Given the description of an element on the screen output the (x, y) to click on. 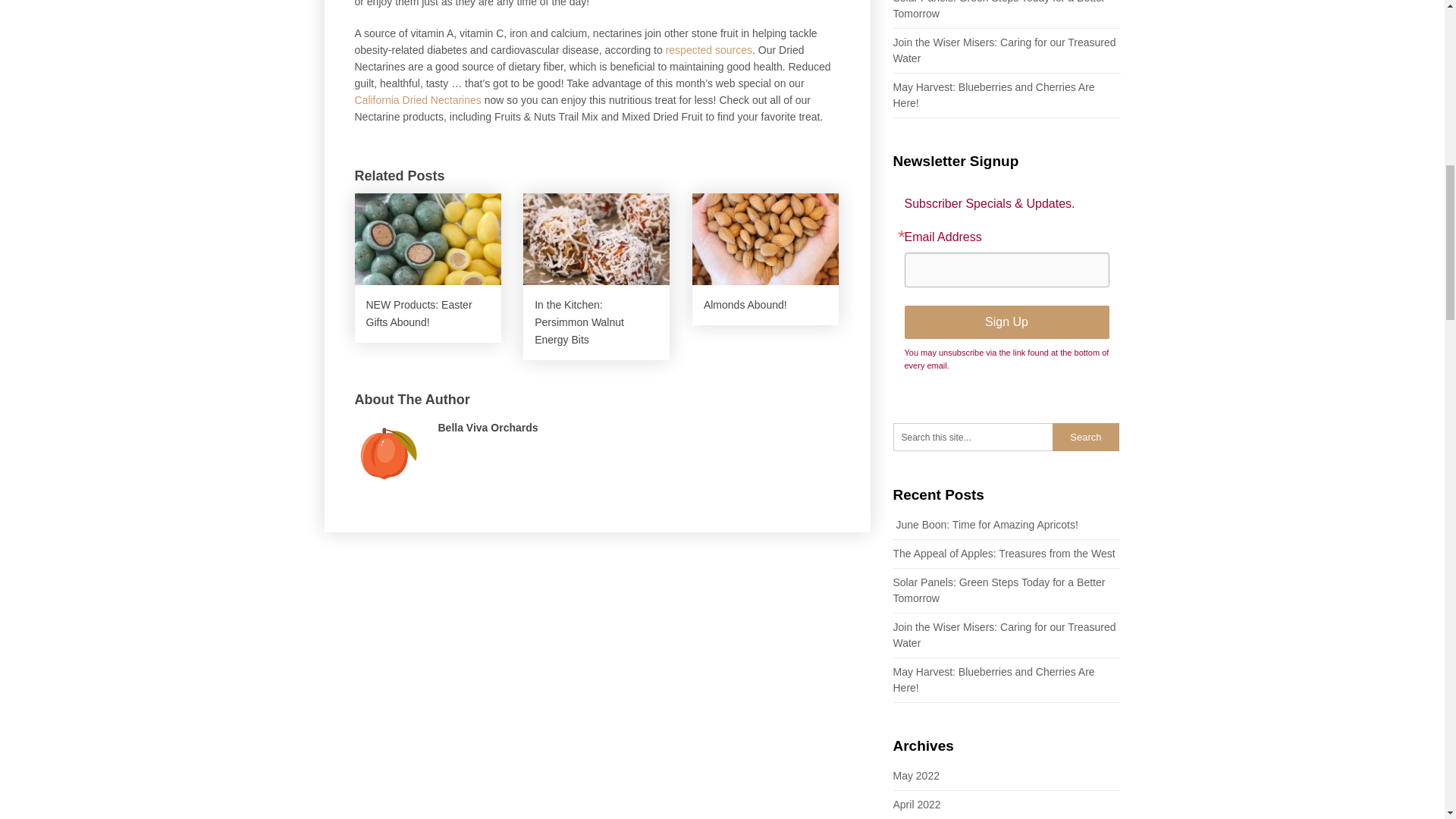
Solar Panels: Green Steps Today for a Better Tomorrow (999, 590)
NEW Products: Easter Gifts Abound! (427, 268)
May 2022 (916, 775)
The Appeal of Apples: Treasures from the West (1004, 553)
April 2022 (916, 804)
Search (1085, 437)
May Harvest: Blueberries and Cherries Are Here! (993, 679)
Sign Up (1006, 322)
California Dried Nectarines (418, 100)
Search this site... (972, 437)
May Harvest: Blueberries and Cherries Are Here! (993, 94)
Almonds Abound! (765, 259)
respected sources (708, 50)
Solar Panels: Green Steps Today for a Better Tomorrow (999, 9)
Join the Wiser Misers: Caring for our Treasured Water (1004, 634)
